Given the description of an element on the screen output the (x, y) to click on. 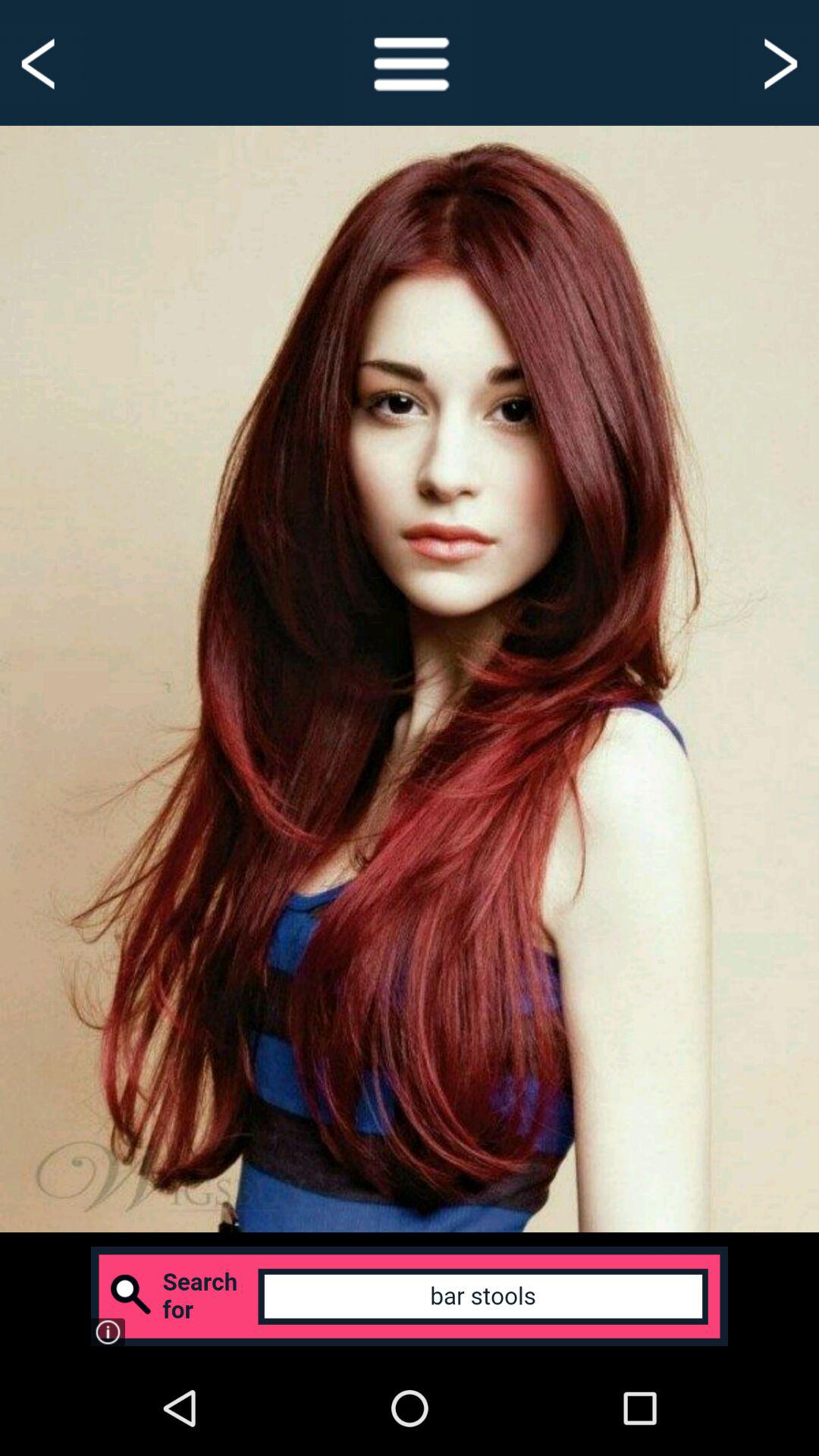
next profile (778, 62)
